Given the description of an element on the screen output the (x, y) to click on. 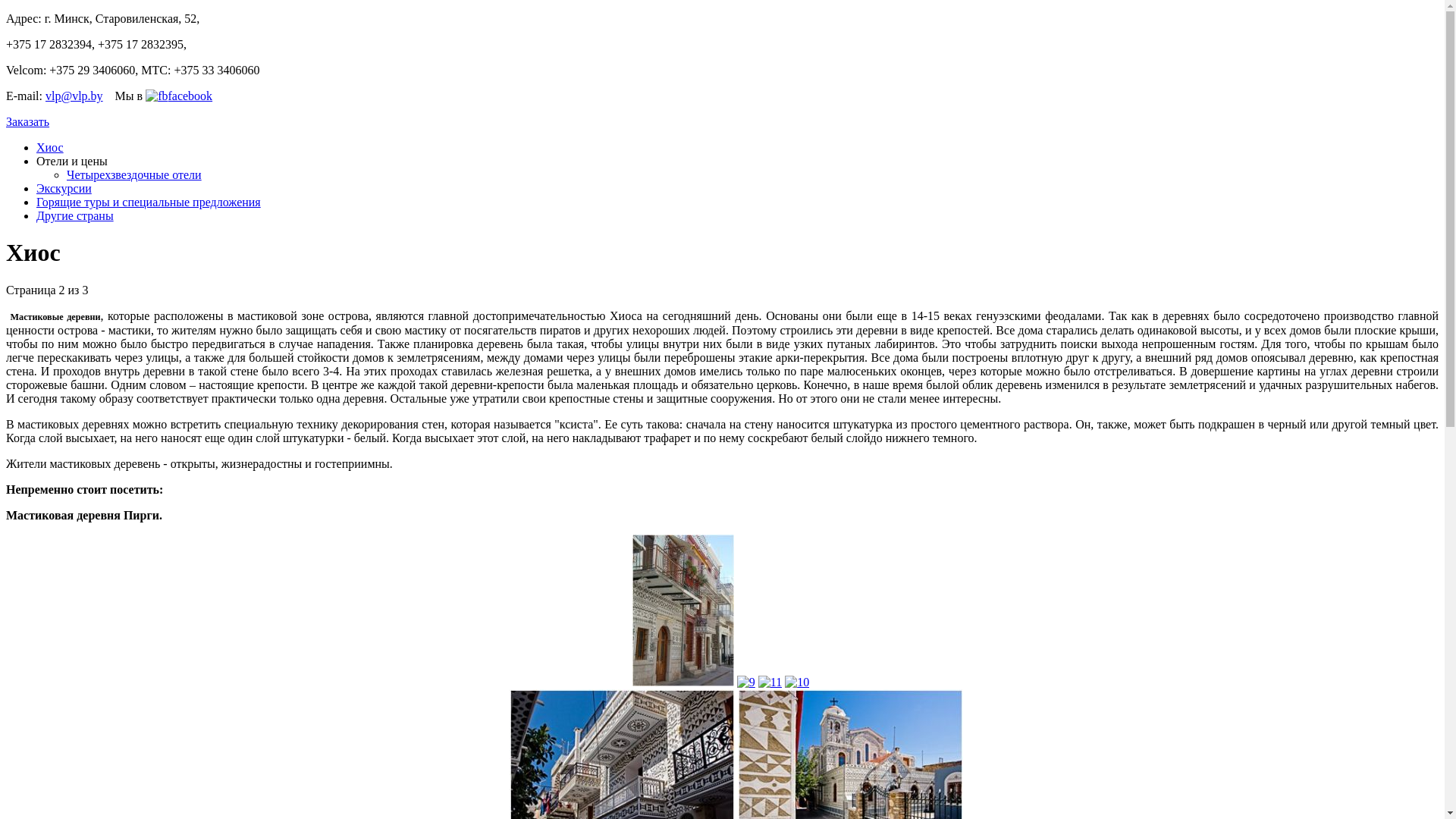
facebook Element type: text (178, 95)
11 Element type: hover (769, 681)
8 Element type: hover (683, 681)
9 Element type: hover (746, 681)
10 Element type: hover (796, 681)
vlp@vlp.by Element type: text (74, 95)
